Given the description of an element on the screen output the (x, y) to click on. 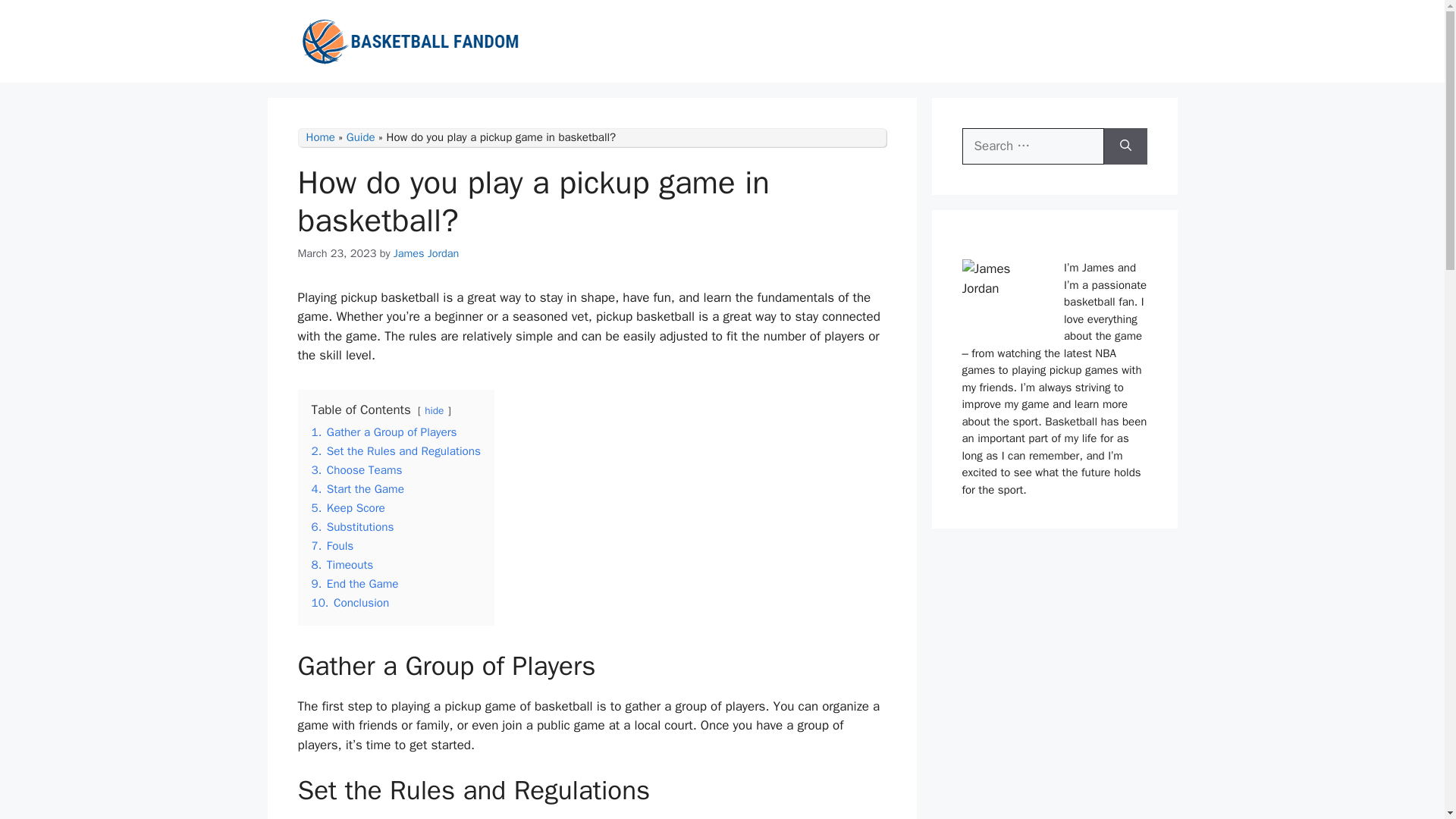
8. Timeouts (341, 564)
10. Conclusion (349, 602)
5. Keep Score (347, 507)
James Jordan (426, 253)
7. Fouls (332, 545)
Guide (360, 137)
2. Set the Rules and Regulations (395, 450)
4. Start the Game (357, 488)
9. End the Game (354, 583)
6. Substitutions (352, 526)
View all posts by James Jordan (426, 253)
Home (319, 137)
1. Gather a Group of Players (384, 432)
3. Choose Teams (356, 469)
hide (434, 410)
